Given the description of an element on the screen output the (x, y) to click on. 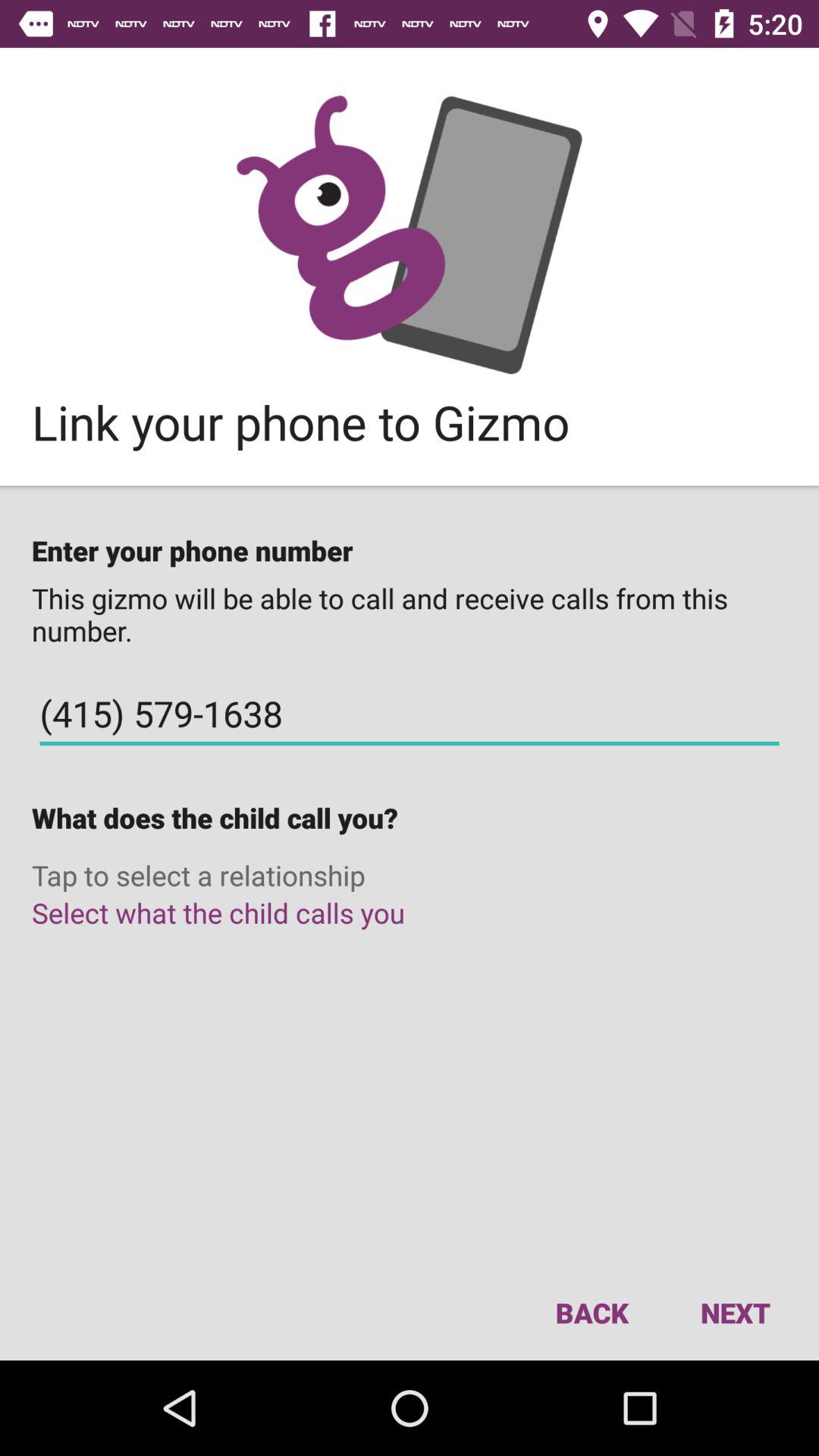
jump to the (415) 579-1638 icon (409, 714)
